Given the description of an element on the screen output the (x, y) to click on. 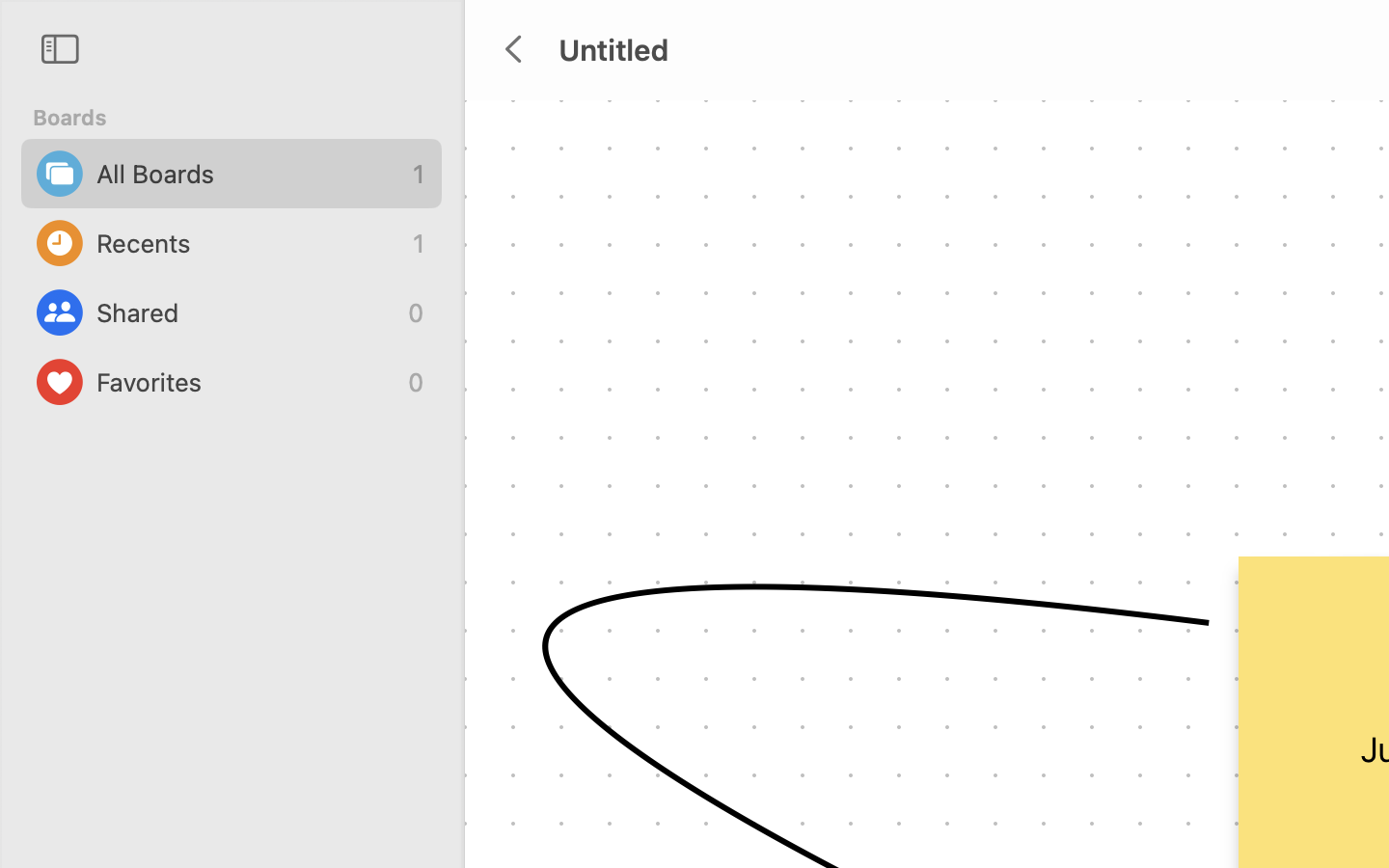
Untitled Element type: AXStaticText (612, 48)
Shared Element type: AXStaticText (246, 312)
